Given the description of an element on the screen output the (x, y) to click on. 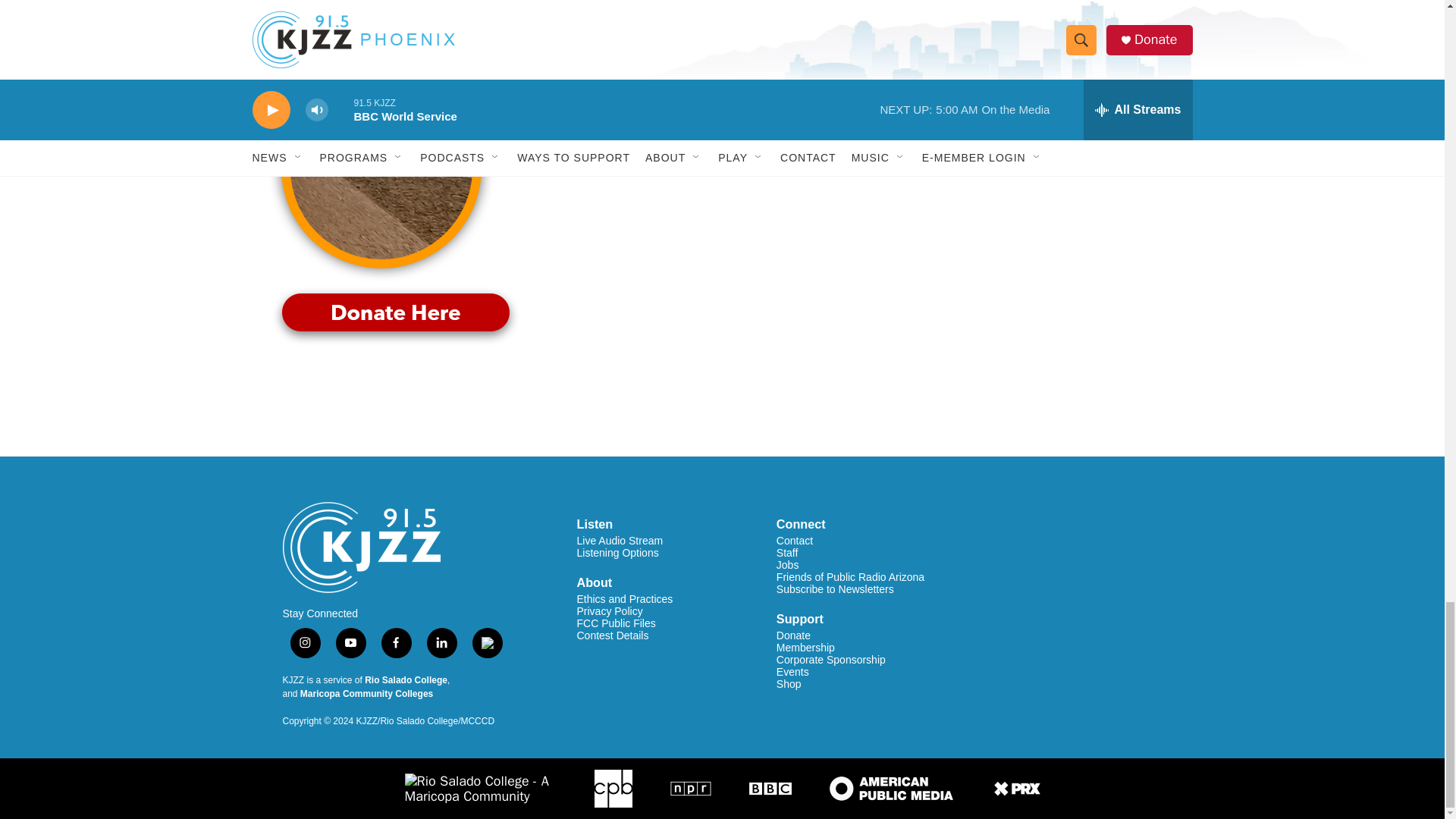
Donate Here (395, 315)
Wooden box with two equipment racks installed (380, 27)
